Given the description of an element on the screen output the (x, y) to click on. 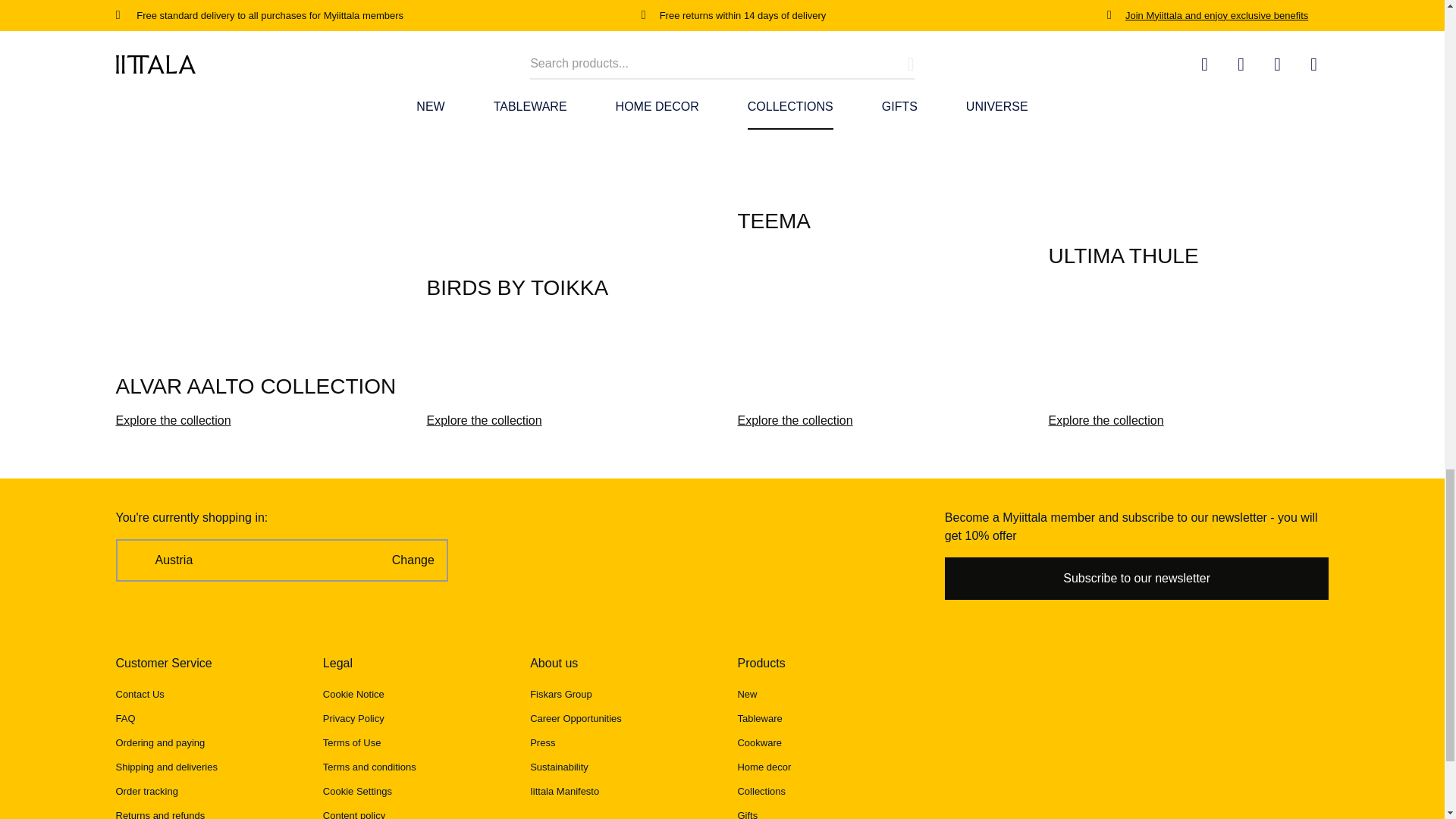
Site terms (352, 742)
Career opportunities (575, 717)
Fiskars Group (560, 694)
Cookie policy (353, 694)
Tableware (758, 717)
Terms and conditions (369, 767)
New items (746, 694)
Cookware (758, 742)
Press (541, 742)
